Given the description of an element on the screen output the (x, y) to click on. 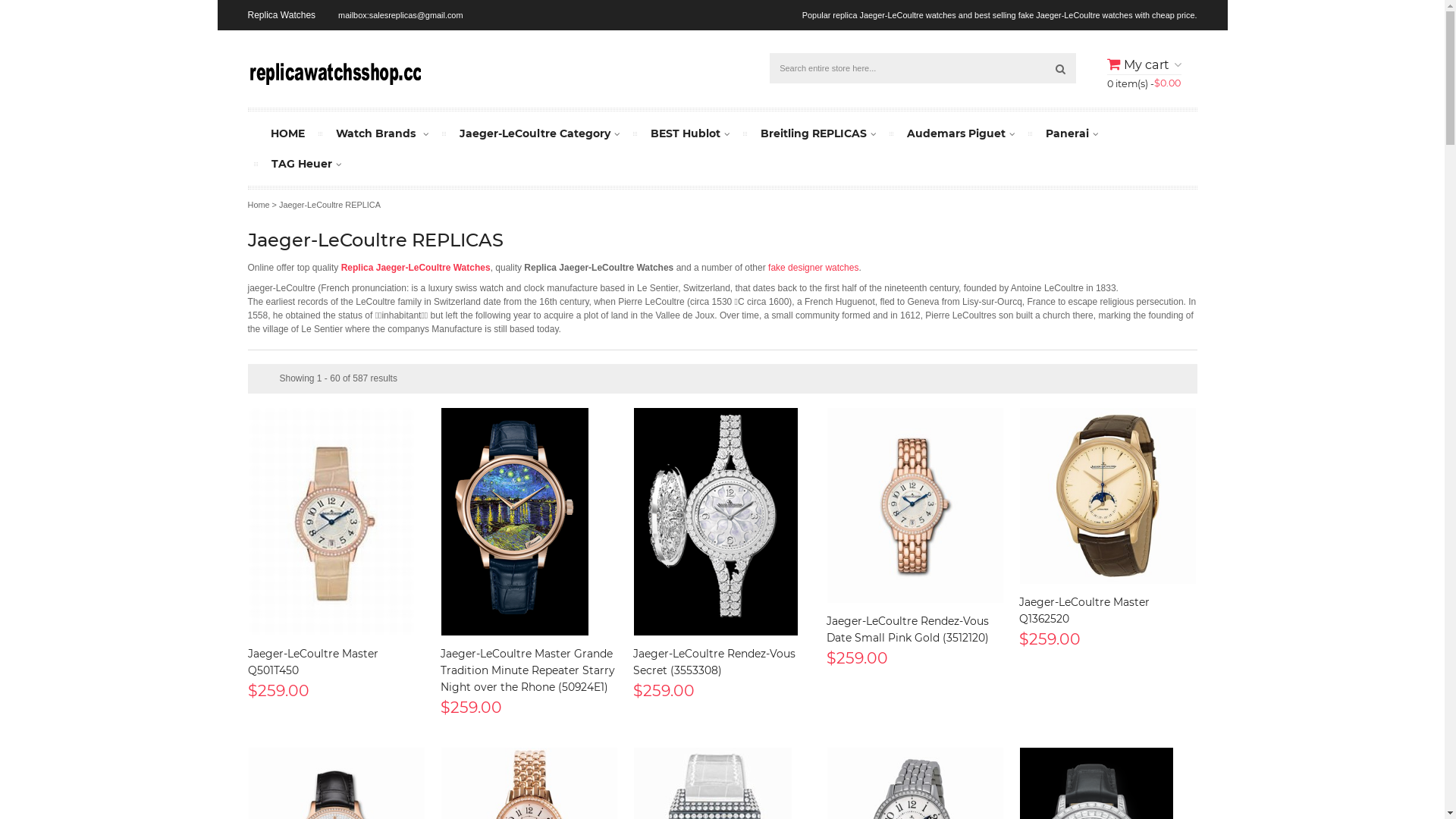
Panerai Element type: text (1070, 133)
Jaeger-LeCoultre Rendez-Vous Date Small Pink Gold (3512120) Element type: hover (915, 504)
Jaeger-LeCoultre Rendez-Vous Secret (3553308) Element type: text (714, 661)
Jaeger-LeCoultre Master Q1362520 Element type: hover (1107, 495)
Home Element type: text (258, 204)
Jaeger-LeCoultre Category Element type: text (539, 133)
TAG Heuer Element type: text (306, 163)
fake designer watches Element type: text (813, 267)
Watch Brands Element type: text (381, 133)
Jaeger-LeCoultre Master Q1362520 Element type: hover (1107, 495)
replicawatchsshop.cc Element type: hover (333, 71)
Jaeger-LeCoultre Master Q501T450 Element type: text (312, 661)
Audemars Piguet Element type: text (960, 133)
Jaeger-LeCoultre Rendez-Vous Secret (3553308) Element type: hover (715, 521)
Jaeger-LeCoultre REPLICA Element type: text (329, 204)
Jaeger-LeCoultre Master Q501T450 Element type: hover (331, 521)
Jaeger-LeCoultre Master Q501T450 Element type: hover (335, 521)
Replica Jaeger-LeCoultre Watches Element type: text (415, 267)
Search Element type: hover (1059, 68)
BEST Hublot Element type: text (689, 133)
Breitling REPLICAS Element type: text (817, 133)
Jaeger-LeCoultre Rendez-Vous Date Small Pink Gold (3512120) Element type: text (907, 629)
HOME Element type: text (286, 133)
Jaeger-LeCoultre Rendez-Vous Date Small Pink Gold (3512120) Element type: hover (915, 505)
My cart
0 item(s) - $0.00 Element type: text (1143, 71)
Jaeger-LeCoultre Rendez-Vous Secret (3553308) Element type: hover (721, 521)
Jaeger-LeCoultre Master Q1362520 Element type: text (1084, 610)
